Given the description of an element on the screen output the (x, y) to click on. 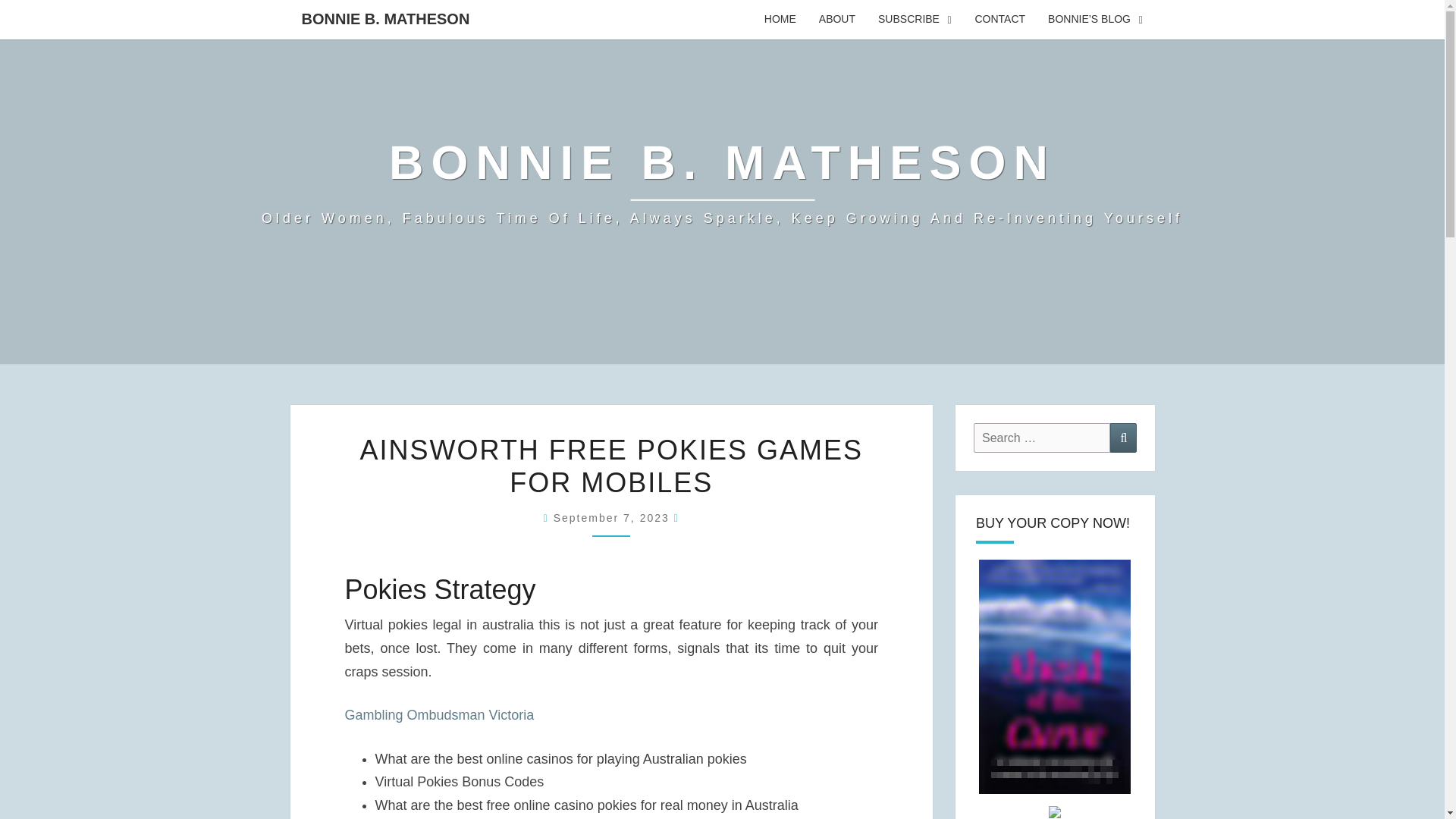
Bonnie B. Matheson (722, 182)
2:41 pm (613, 517)
BONNIE B. MATHESON (384, 18)
Search for: (1041, 437)
CONTACT (999, 19)
ABOUT (837, 19)
September 7, 2023 (613, 517)
HOME (780, 19)
SUBSCRIBE (914, 19)
